Given the description of an element on the screen output the (x, y) to click on. 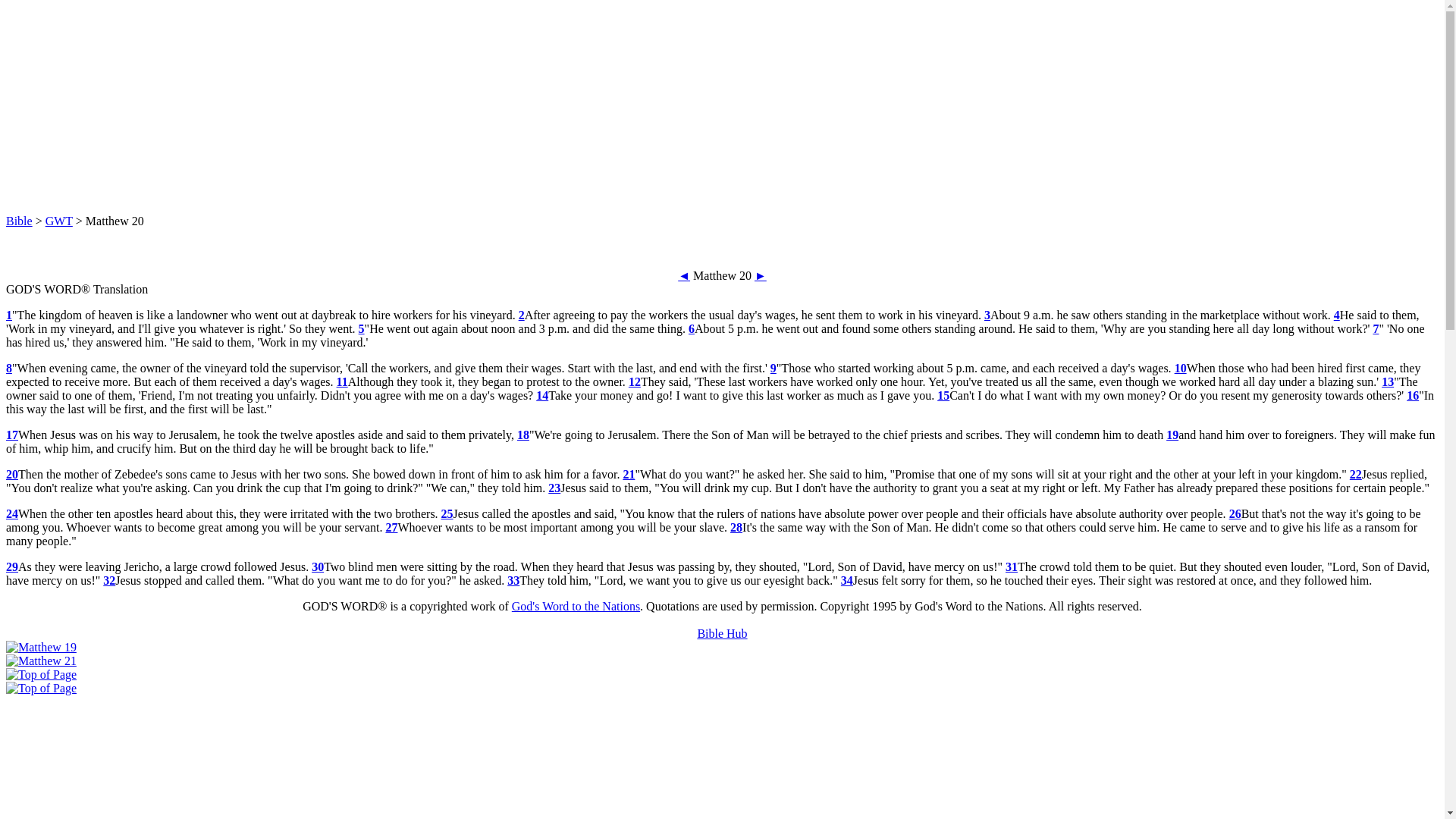
21 (628, 473)
27 (391, 526)
Top of Page (41, 674)
13 (1387, 381)
33 (512, 580)
25 (446, 513)
Bible Hub (721, 633)
Matthew 21 (41, 660)
28 (736, 526)
19 (1171, 434)
